Given the description of an element on the screen output the (x, y) to click on. 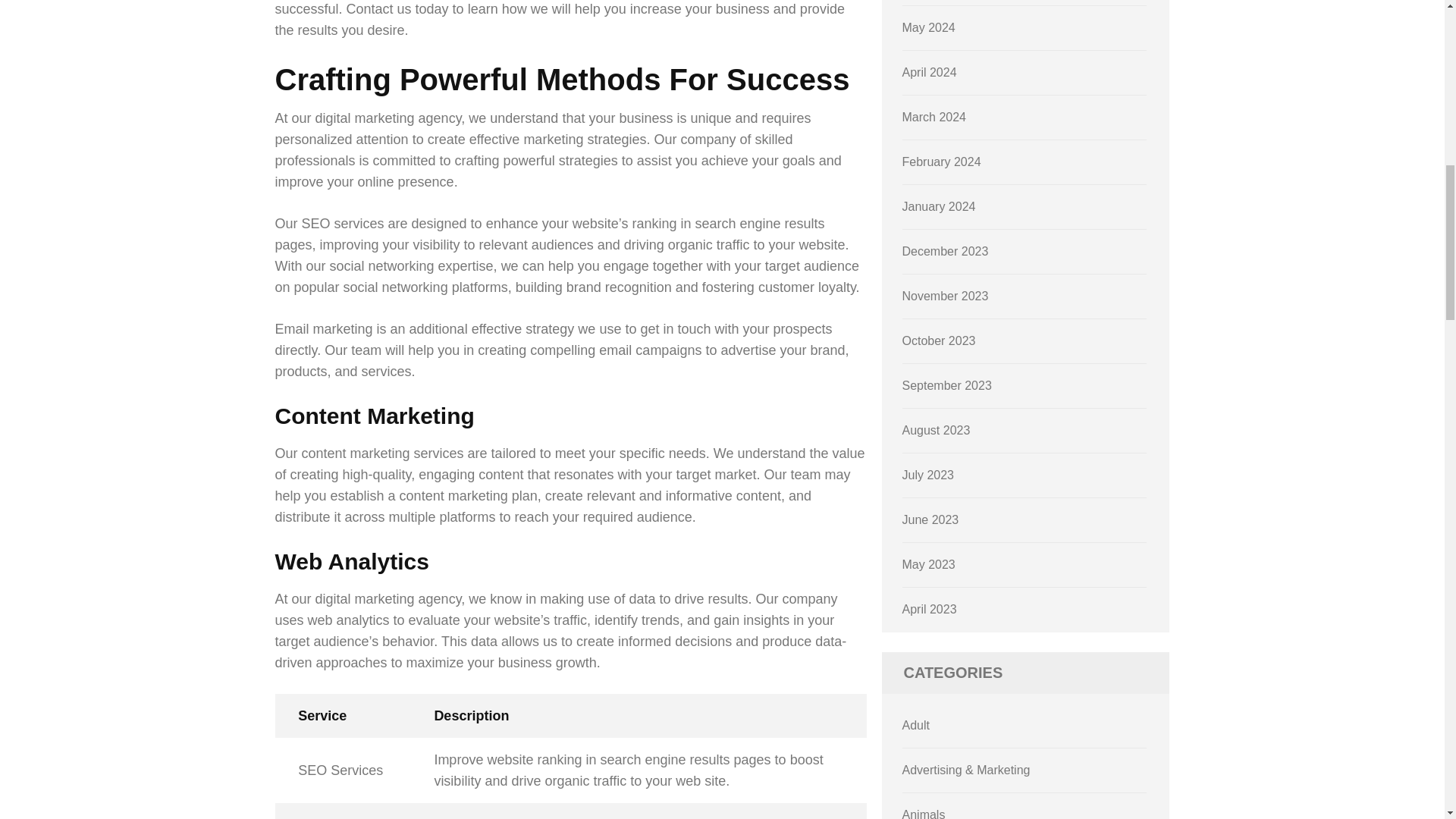
May 2024 (928, 27)
January 2024 (938, 205)
May 2023 (928, 563)
December 2023 (945, 250)
February 2024 (941, 161)
October 2023 (938, 340)
September 2023 (946, 385)
July 2023 (928, 474)
April 2024 (929, 72)
June 2023 (930, 519)
